Given the description of an element on the screen output the (x, y) to click on. 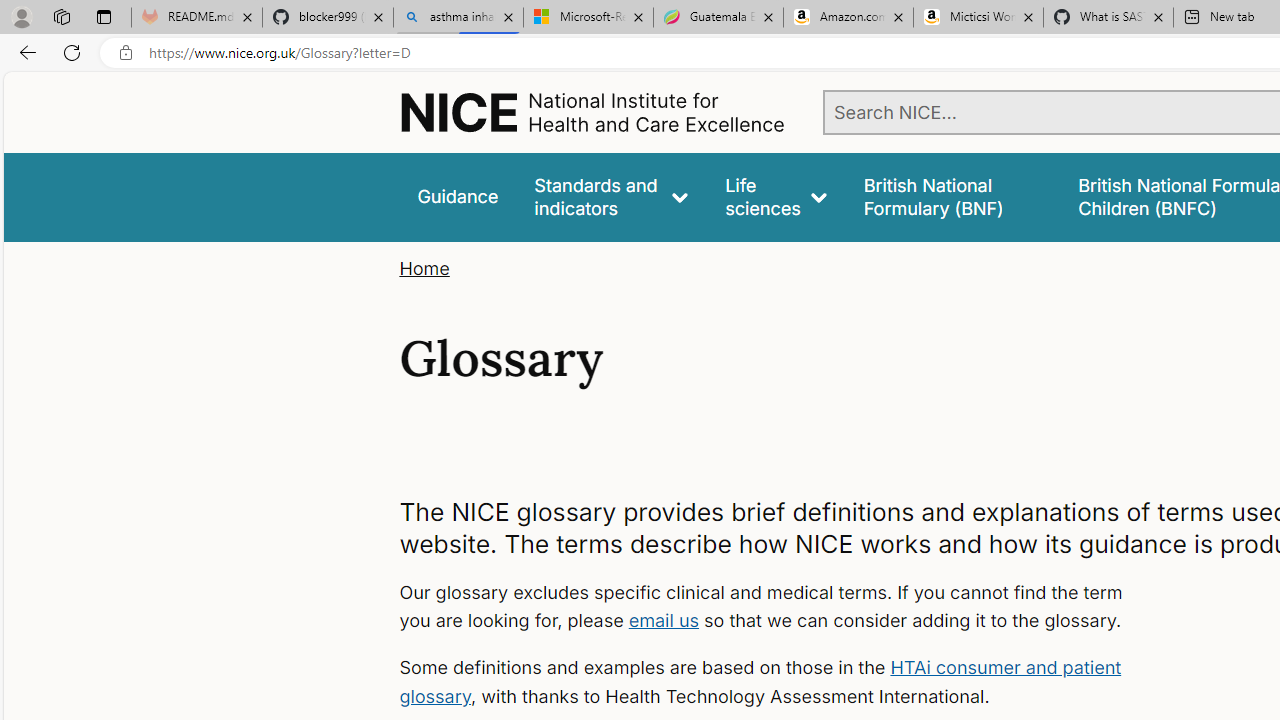
Guidance (458, 196)
Home (424, 268)
false (952, 196)
Refresh (72, 52)
Life sciences (776, 196)
Microsoft-Report a Concern to Bing (587, 17)
